Given the description of an element on the screen output the (x, y) to click on. 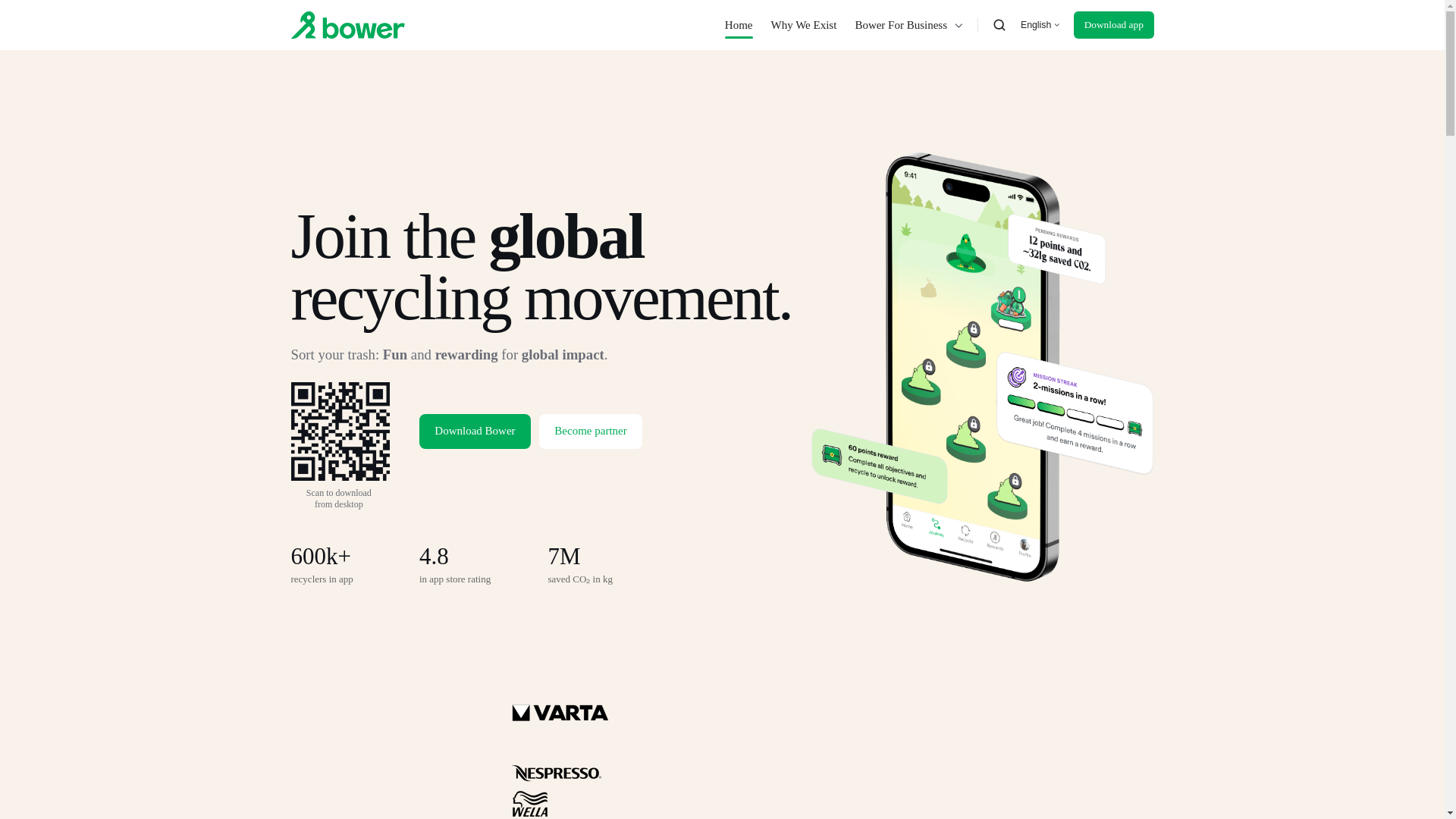
Download Bower (475, 431)
Home (738, 24)
English (1039, 24)
logo bower green (347, 24)
Bower For Business (908, 24)
Download app (1113, 24)
Why We Exist (804, 24)
Become partner (590, 431)
